Given the description of an element on the screen output the (x, y) to click on. 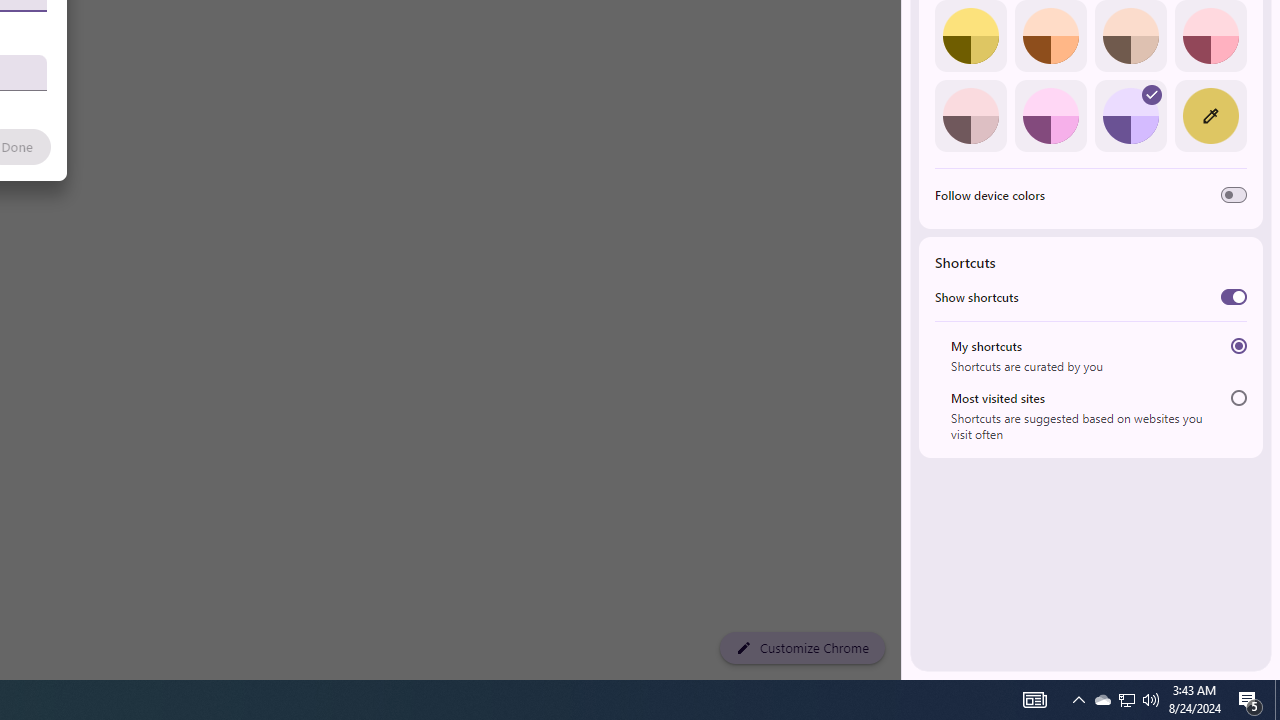
Follow device colors (1233, 195)
Show shortcuts (1233, 296)
Pink (970, 115)
Violet (1130, 115)
Most visited sites (1238, 398)
Apricot (1130, 36)
Fuchsia (1050, 115)
Orange (1050, 36)
My shortcuts (1238, 345)
Side Panel Resize Handle (905, 39)
Citron (970, 36)
AutomationID: svg (1151, 94)
Custom color (1210, 115)
Rose (1210, 36)
